Given the description of an element on the screen output the (x, y) to click on. 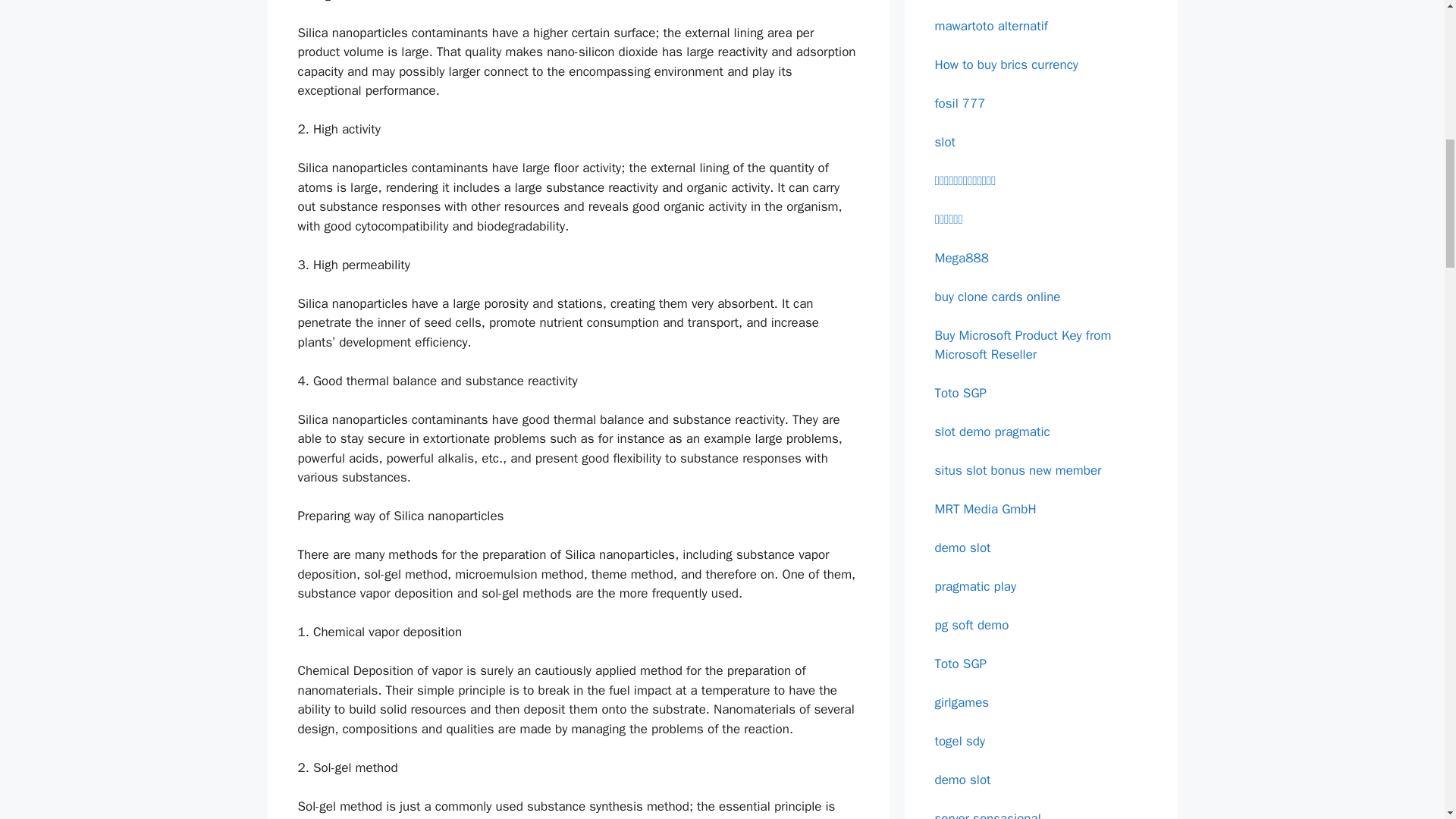
mawartoto alternatif (990, 26)
slot (944, 141)
fosil 777 (959, 103)
How to buy brics currency (1005, 64)
